Given the description of an element on the screen output the (x, y) to click on. 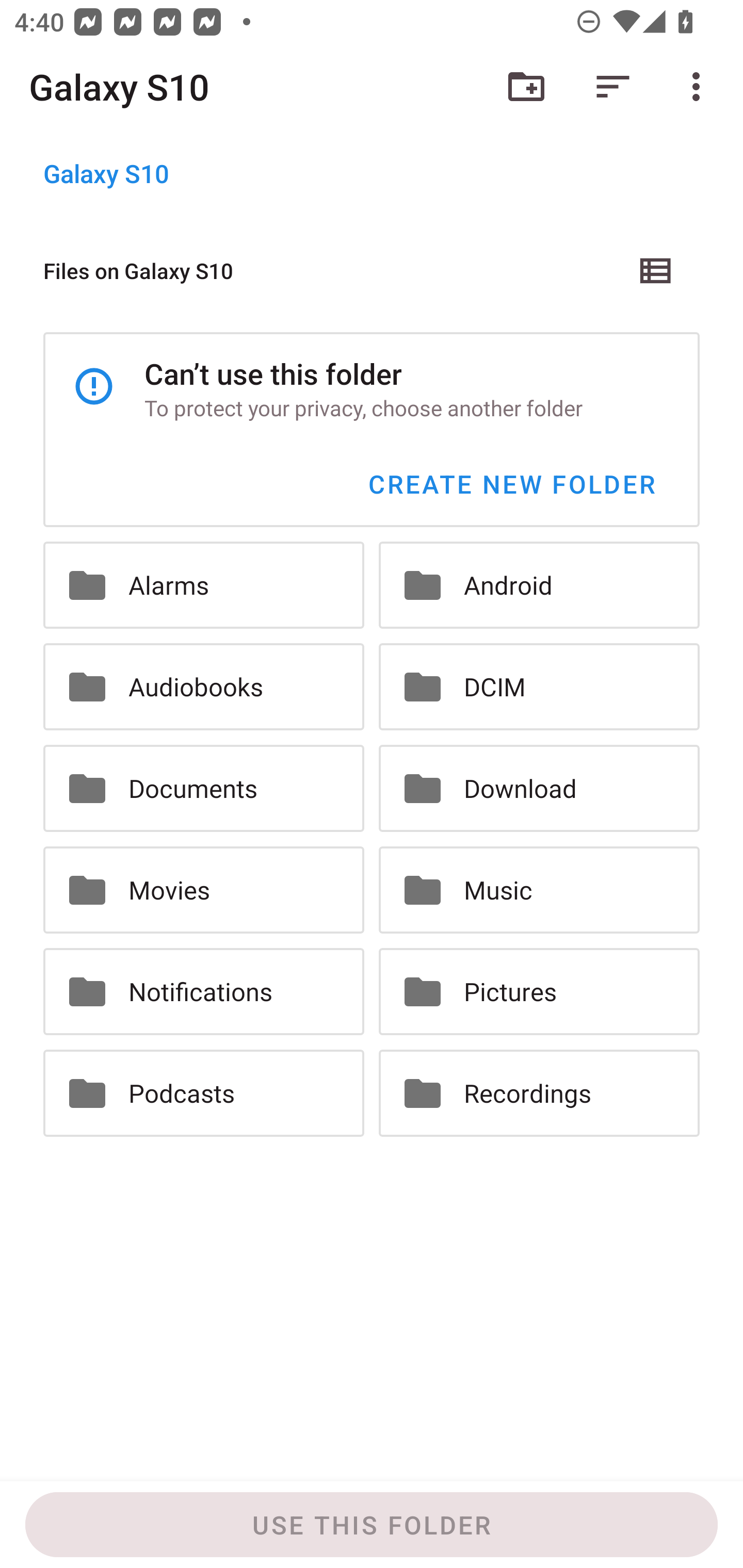
New folder (525, 86)
Sort by... (612, 86)
More options (699, 86)
List view (655, 270)
CREATE NEW FOLDER (511, 483)
Alarms (203, 584)
Android (538, 584)
Audiobooks (203, 686)
DCIM (538, 686)
Documents (203, 788)
Download (538, 788)
Movies (203, 889)
Music (538, 889)
Notifications (203, 991)
Pictures (538, 991)
Podcasts (203, 1092)
Recordings (538, 1092)
USE THIS FOLDER (371, 1524)
